Given the description of an element on the screen output the (x, y) to click on. 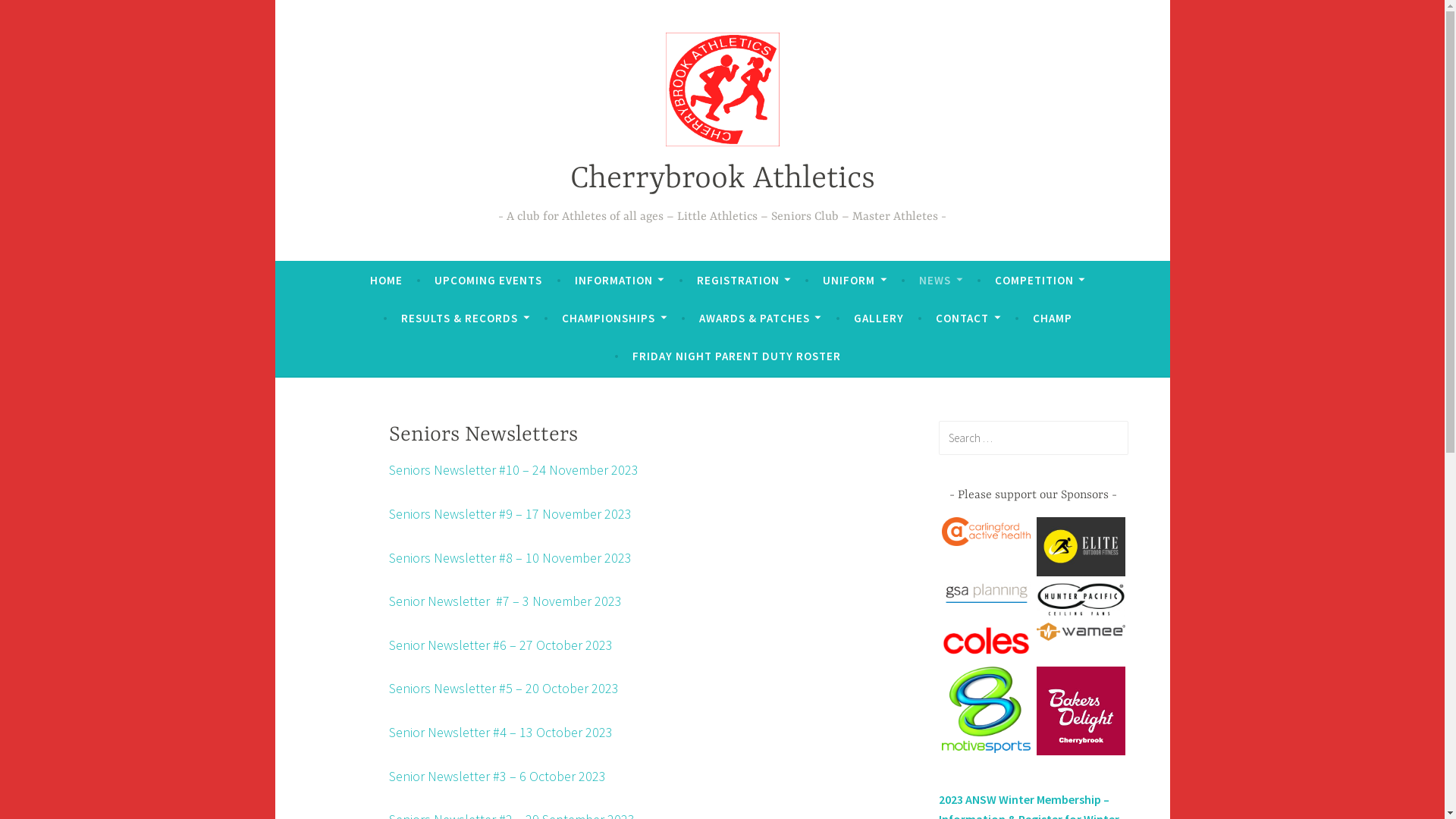
INFORMATION Element type: text (619, 280)
FRIDAY NIGHT PARENT DUTY ROSTER Element type: text (736, 356)
CONTACT Element type: text (967, 318)
GALLERY Element type: text (878, 318)
Cherrybrook Athletics Element type: text (722, 179)
HOME Element type: text (386, 280)
Search Element type: text (33, 15)
AWARDS & PATCHES Element type: text (760, 318)
CHAMP Element type: text (1052, 318)
NEWS Element type: text (940, 280)
Skip to content Element type: text (274, 0)
UPCOMING EVENTS Element type: text (488, 280)
UNIFORM Element type: text (854, 280)
RESULTS & RECORDS Element type: text (465, 318)
REGISTRATION Element type: text (743, 280)
CHAMPIONSHIPS Element type: text (613, 318)
COMPETITION Element type: text (1039, 280)
